Given the description of an element on the screen output the (x, y) to click on. 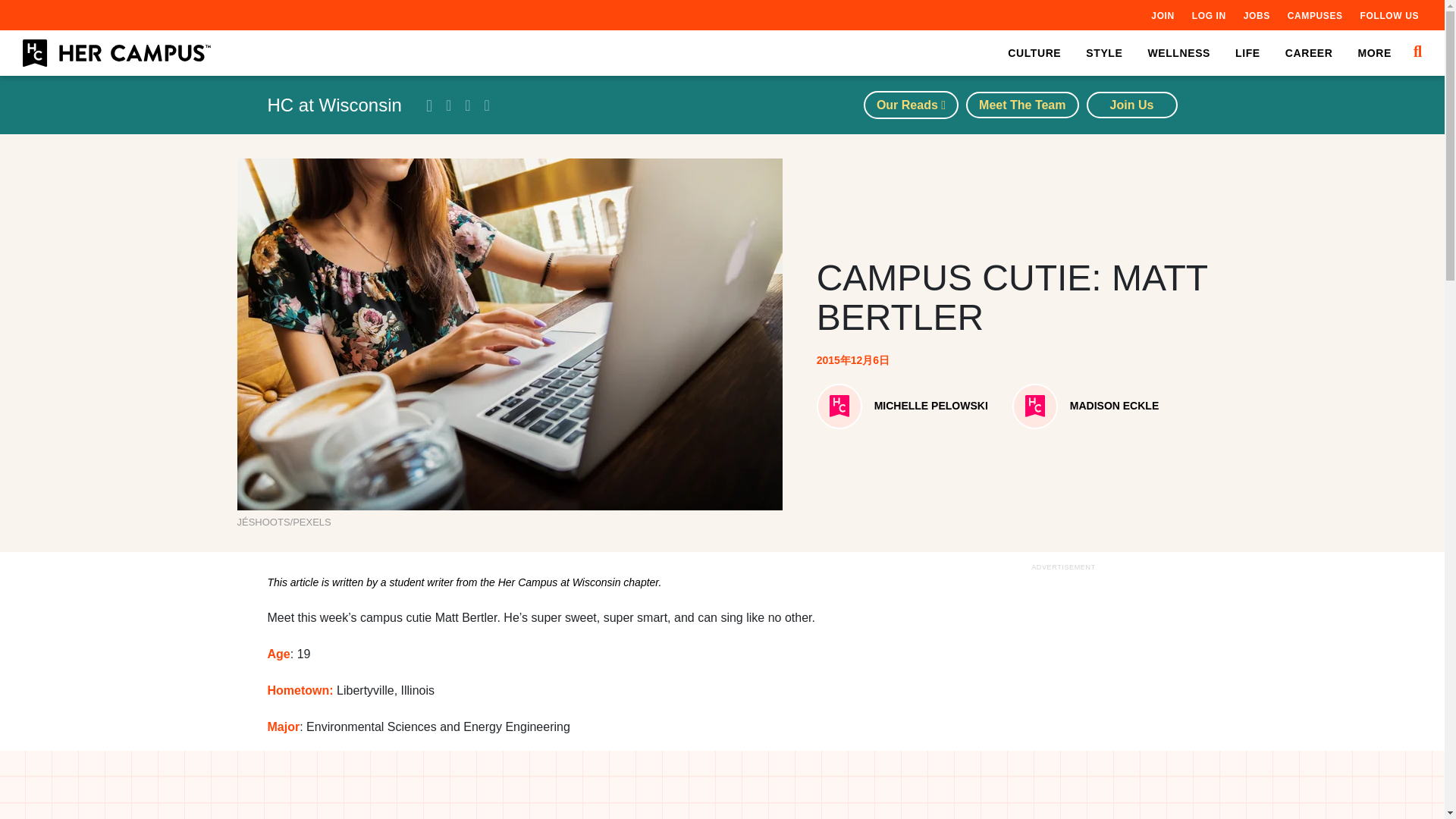
LOG IN (1208, 15)
JOBS (1256, 15)
JOIN (1162, 15)
CAMPUSES (1314, 15)
